Given the description of an element on the screen output the (x, y) to click on. 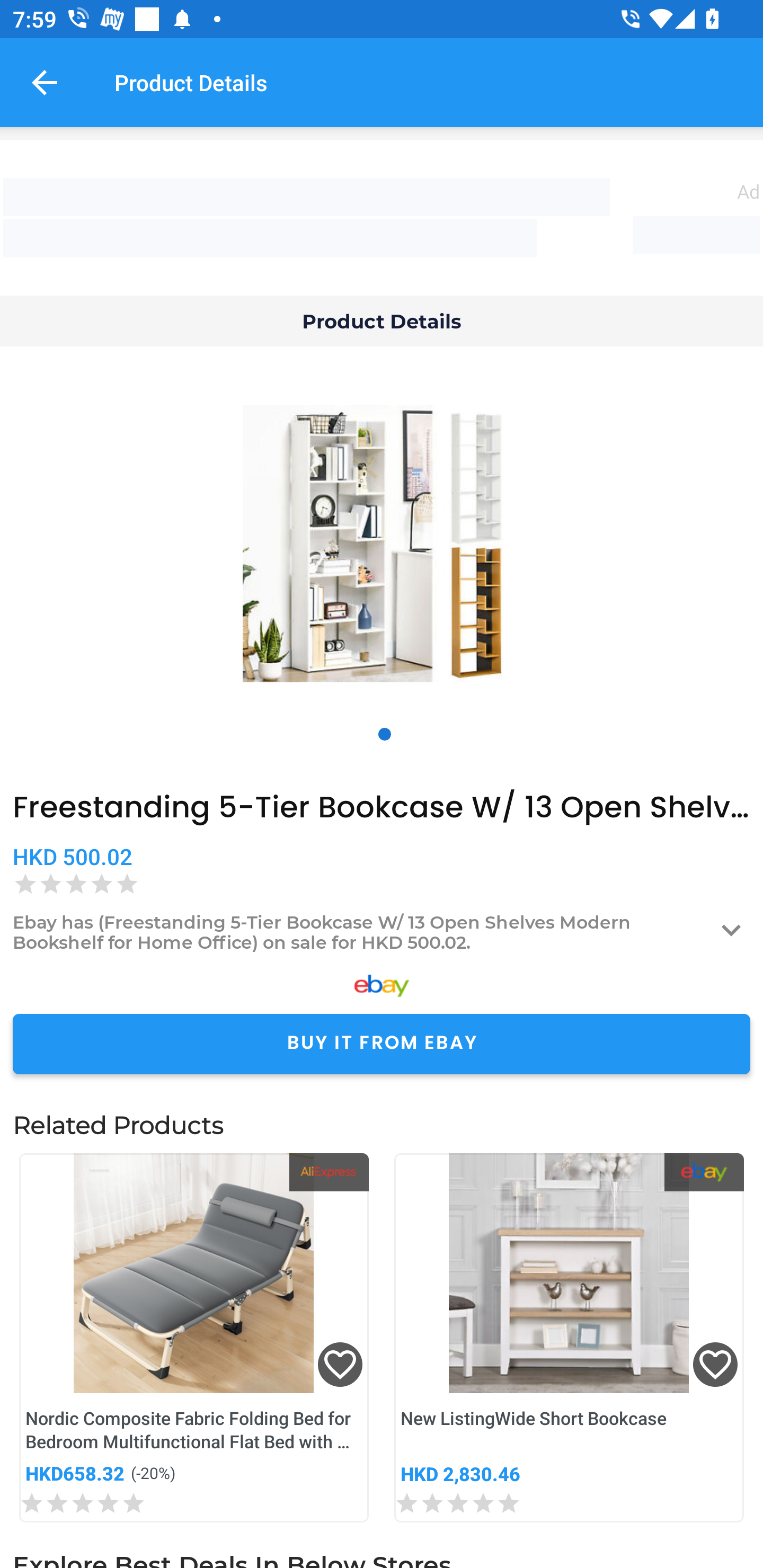
Navigate up (44, 82)
BUY IT FROM EBAY (381, 1044)
New ListingWide Short Bookcase HKD 2,830.46 0.0 (568, 1337)
